Given the description of an element on the screen output the (x, y) to click on. 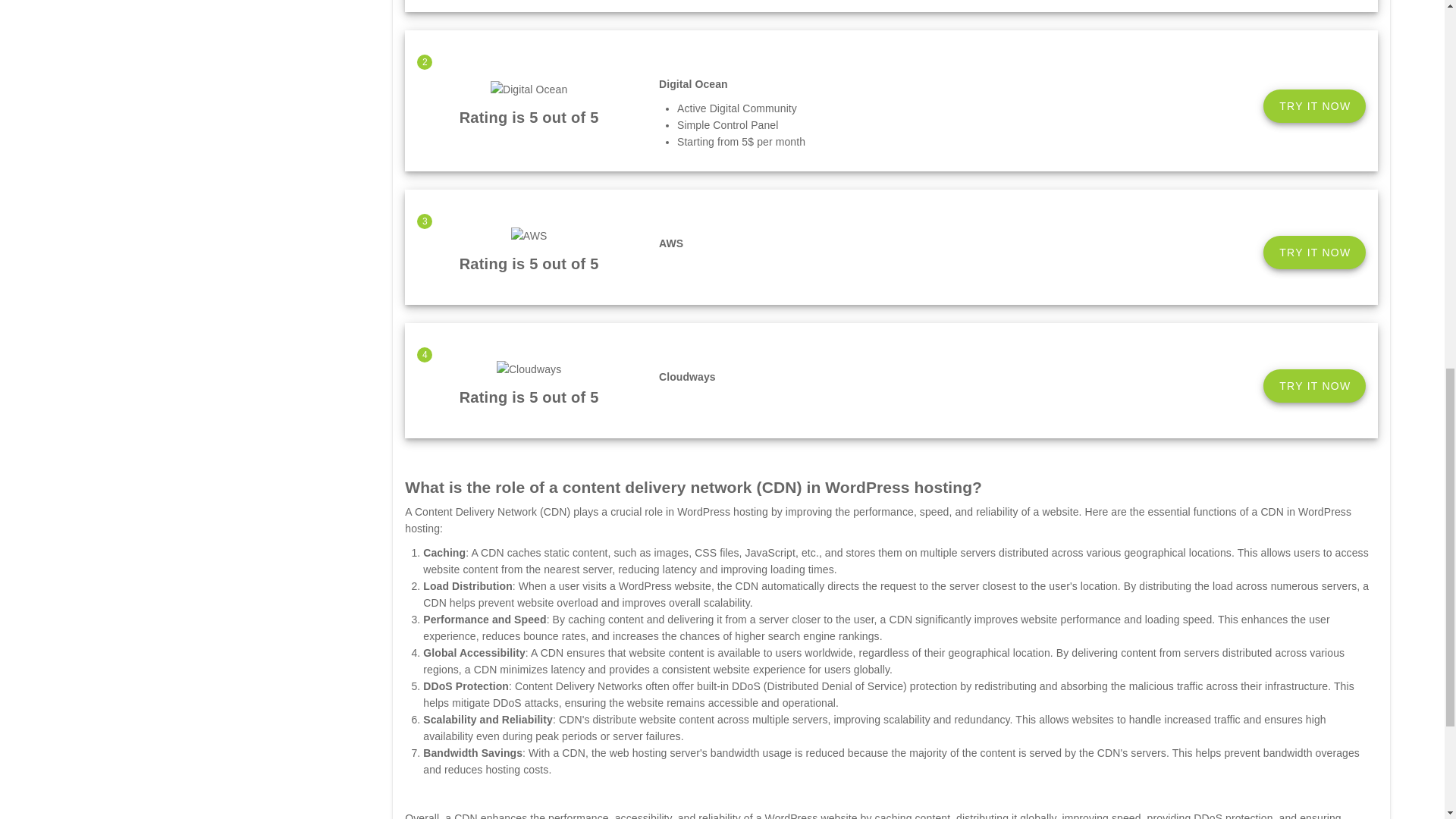
TRY IT NOW (1314, 252)
TRY IT NOW (1314, 105)
TRY IT NOW (1314, 385)
